Given the description of an element on the screen output the (x, y) to click on. 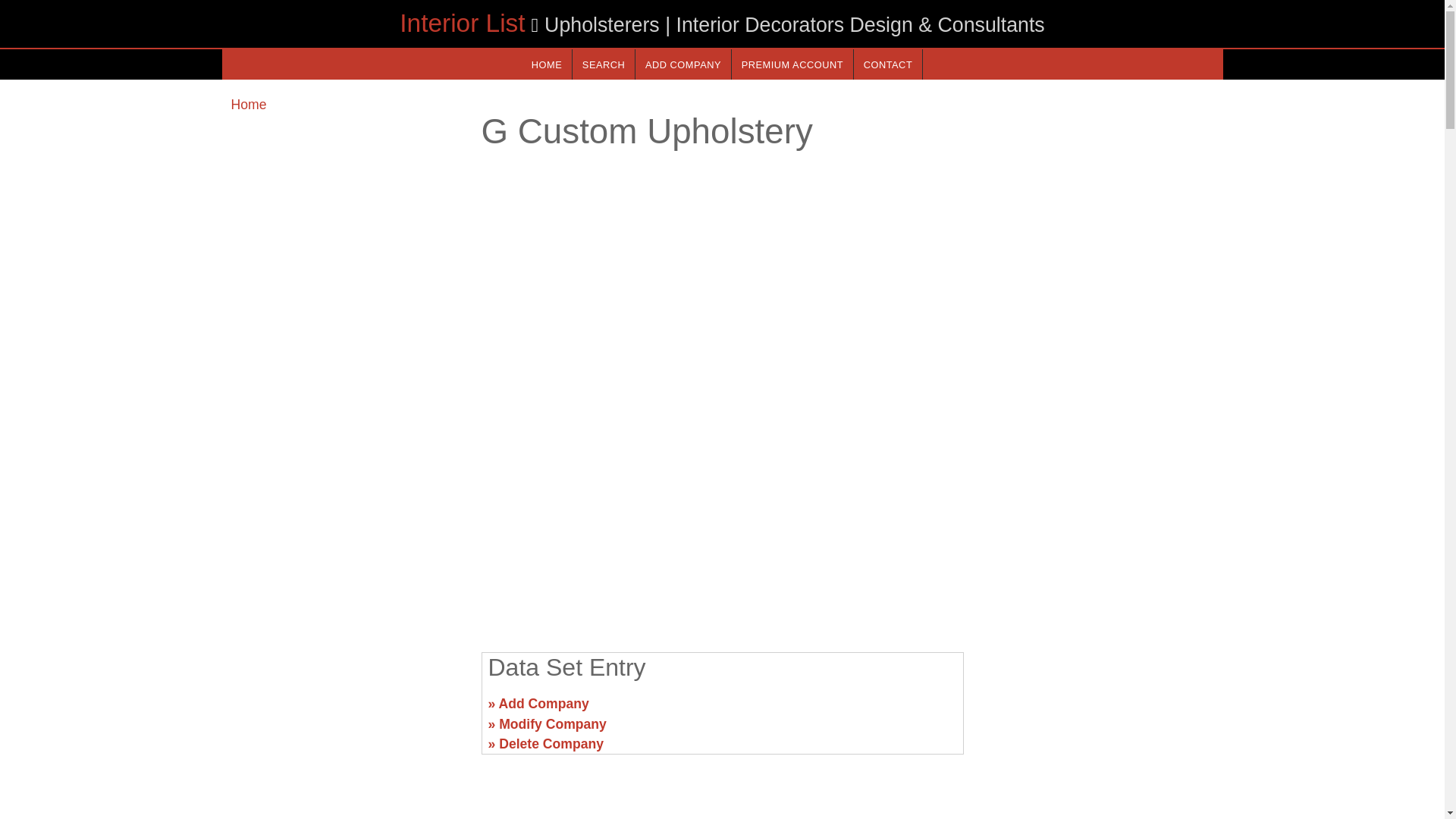
CONTACT (887, 64)
PREMIUM ACCOUNT (792, 64)
Interior List (461, 22)
Search in this webseite. (603, 64)
ADD COMPANY (682, 64)
Home (248, 104)
Add a new company (682, 64)
Premium account (792, 64)
SEARCH (603, 64)
HOME (546, 64)
